Given the description of an element on the screen output the (x, y) to click on. 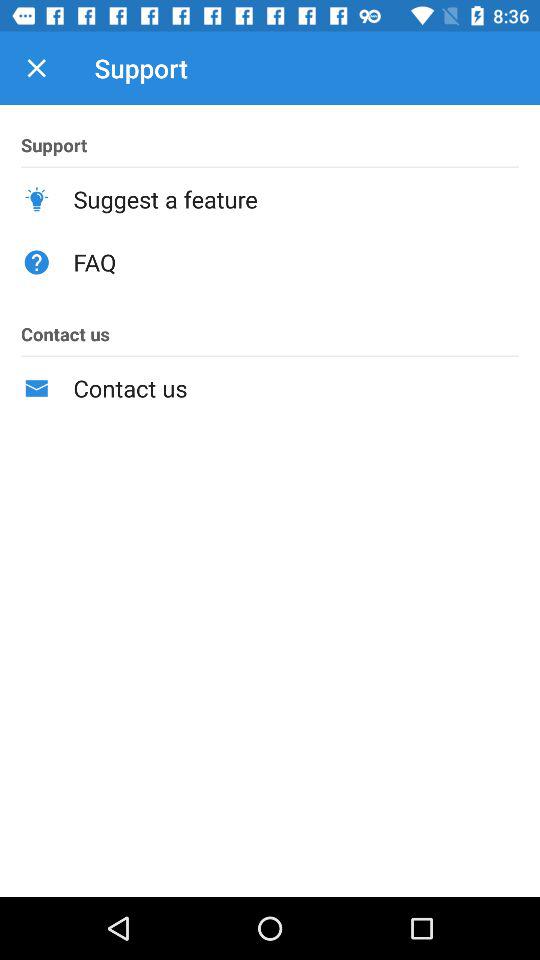
select item to the left of support item (36, 68)
